Given the description of an element on the screen output the (x, y) to click on. 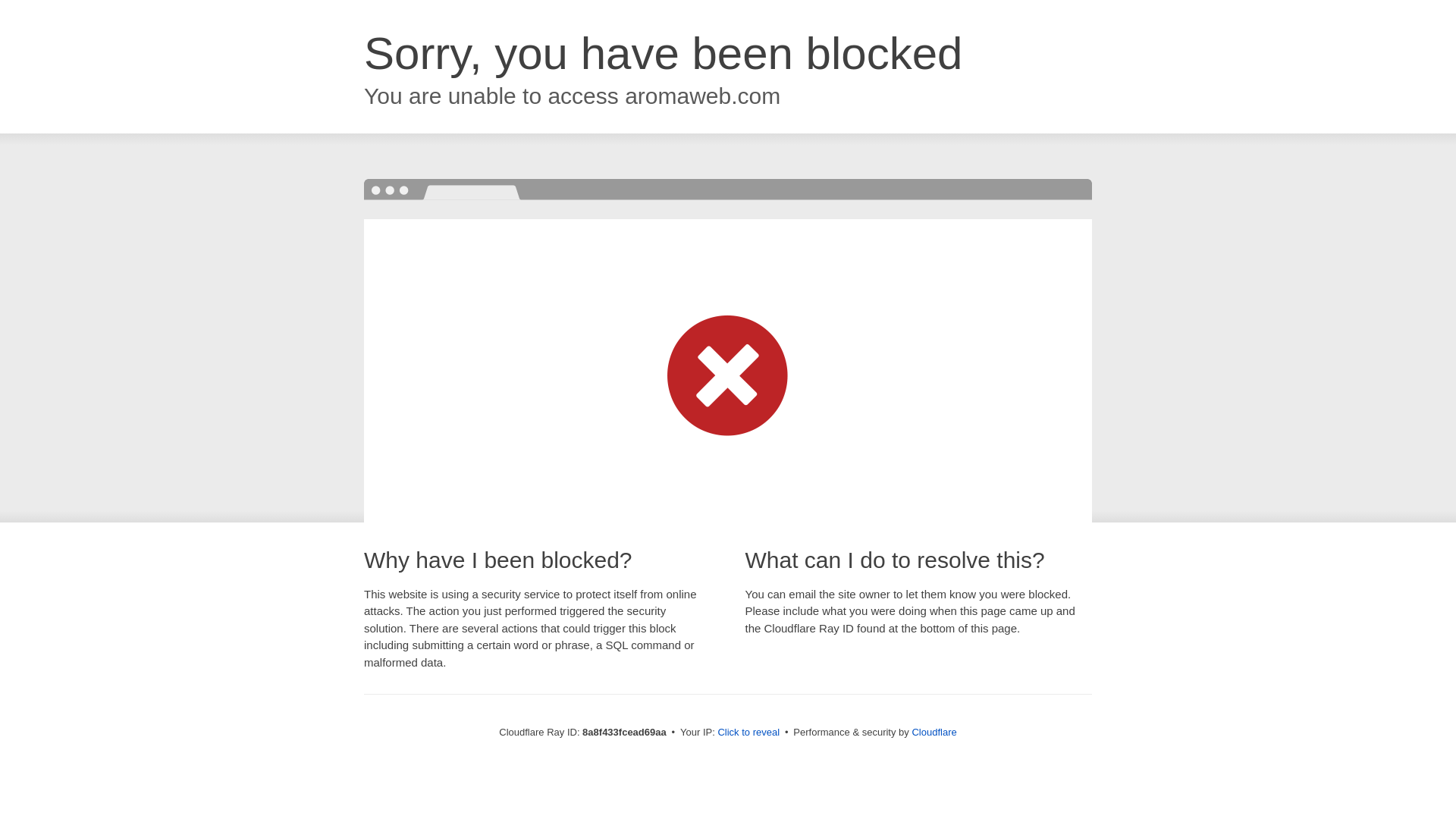
Click to reveal (747, 732)
Cloudflare (933, 731)
